Given the description of an element on the screen output the (x, y) to click on. 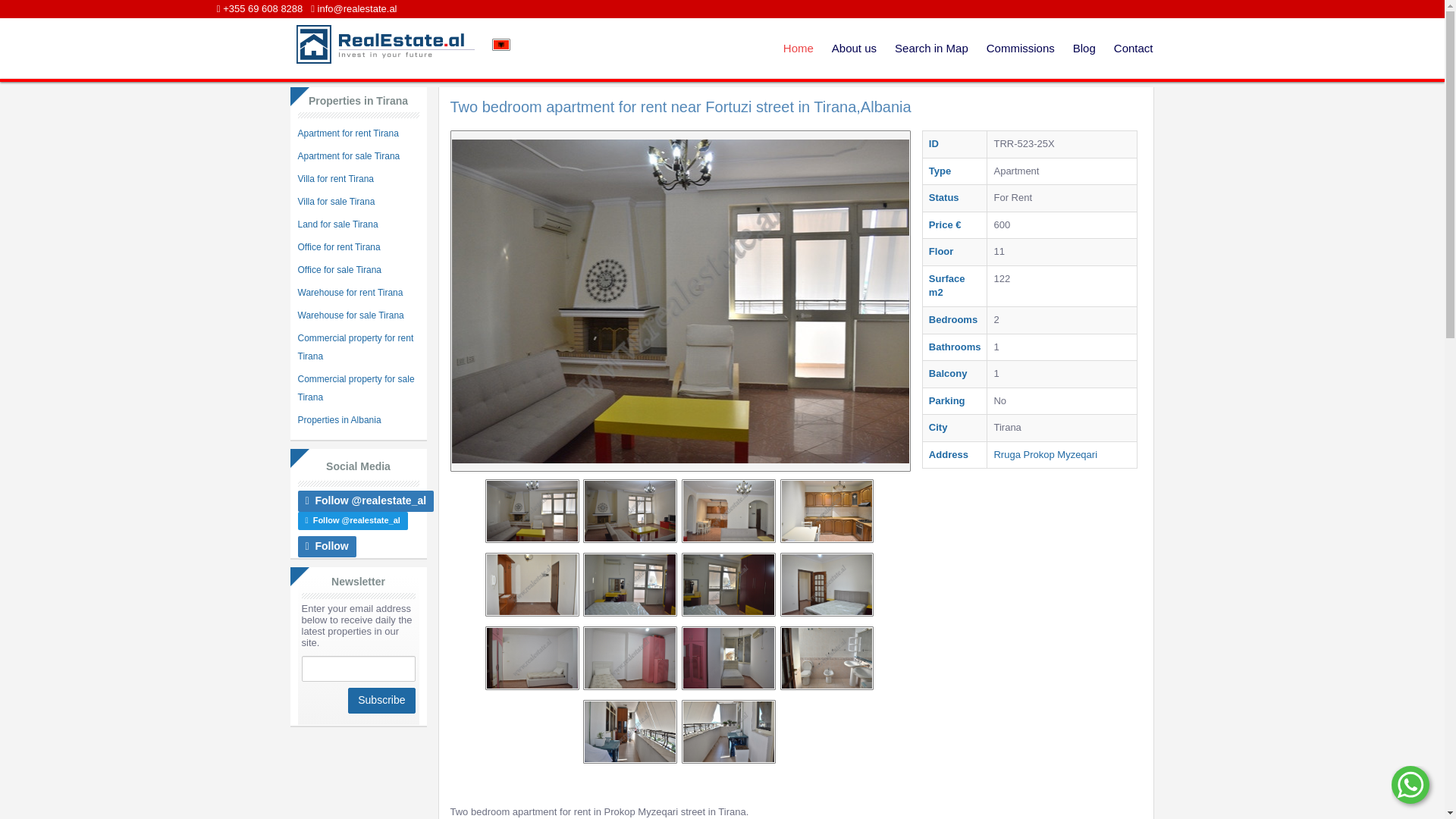
Image (534, 584)
Image (754, 510)
Image (825, 532)
Search in Map (930, 48)
Image (804, 606)
Real Estate Albania Logo (383, 44)
Image (849, 606)
Image (678, 710)
Image (630, 658)
